Given the description of an element on the screen output the (x, y) to click on. 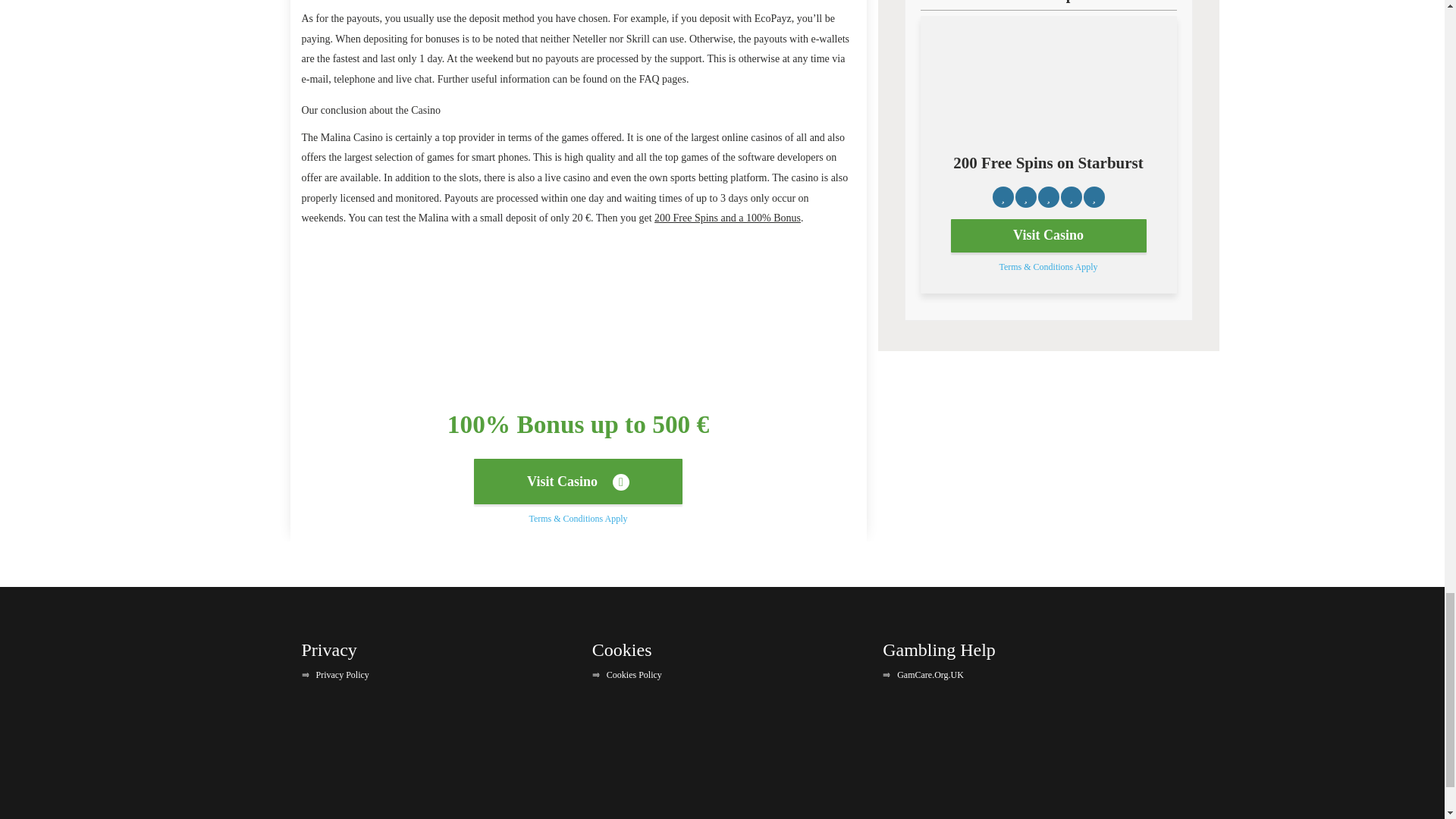
Visit Casino (578, 481)
